Given the description of an element on the screen output the (x, y) to click on. 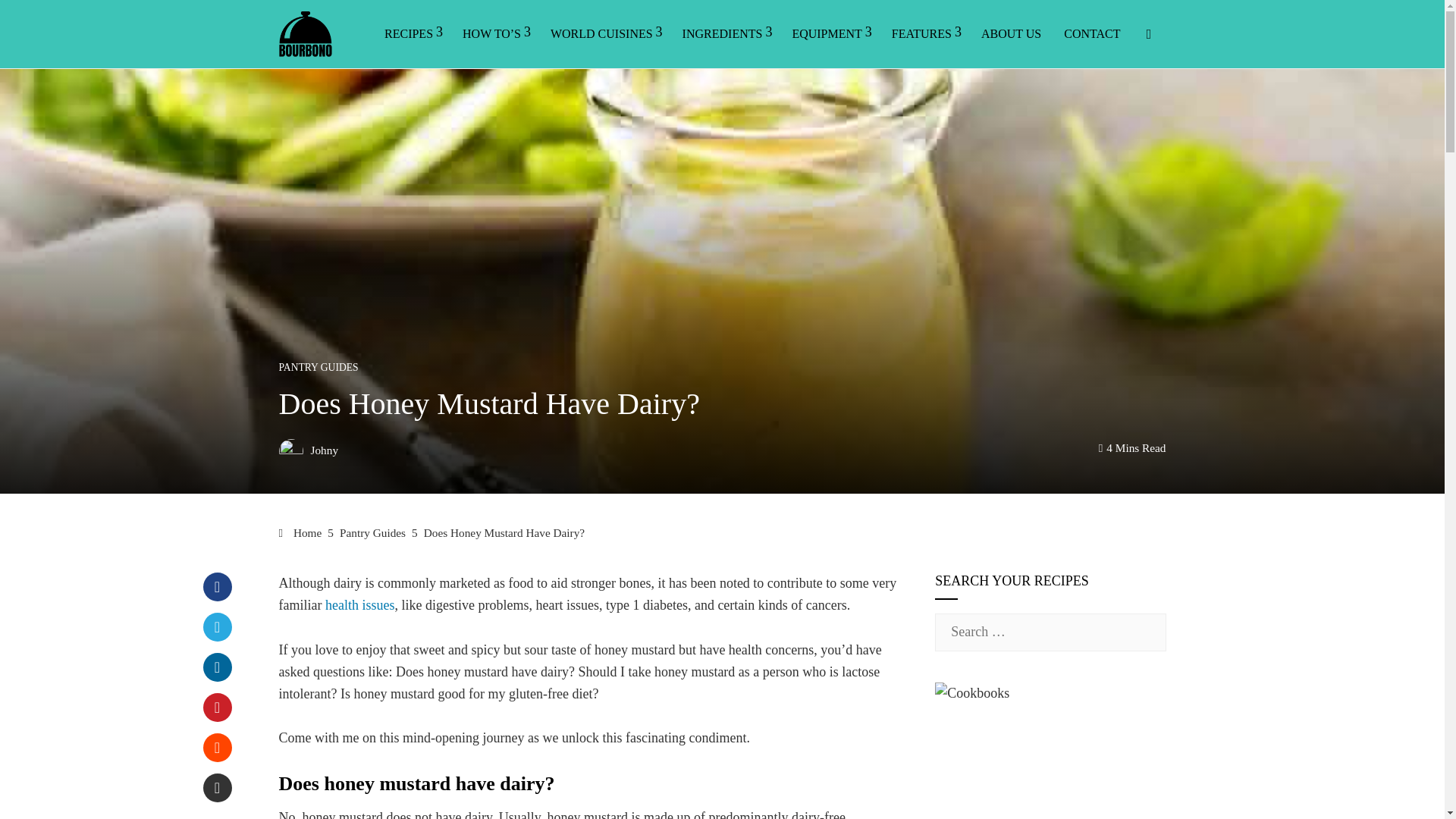
EQUIPMENT (829, 33)
INGREDIENTS (726, 33)
RECIPES (411, 33)
WORLD CUISINES (604, 33)
